Given the description of an element on the screen output the (x, y) to click on. 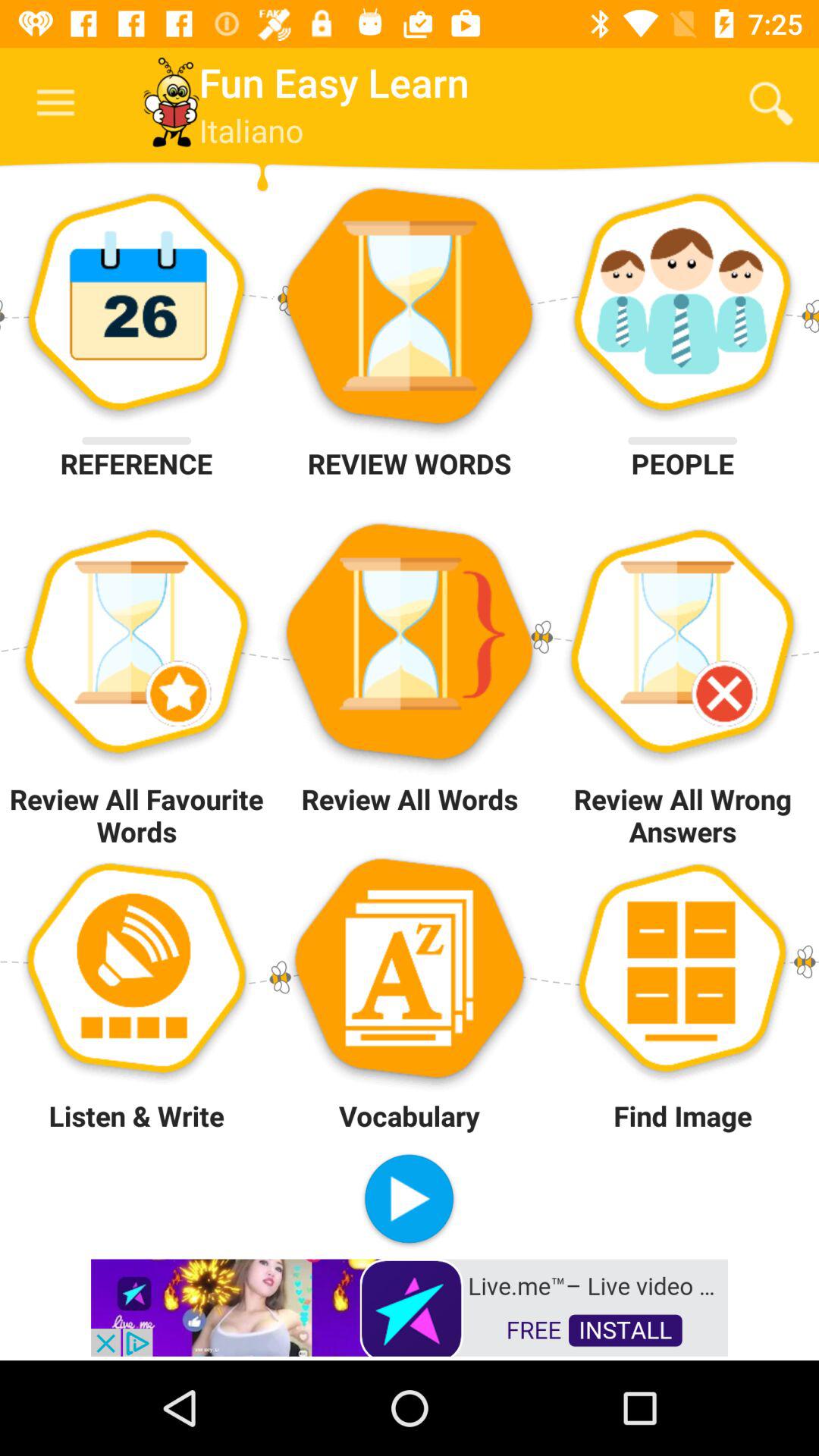
play italian (408, 1200)
